Given the description of an element on the screen output the (x, y) to click on. 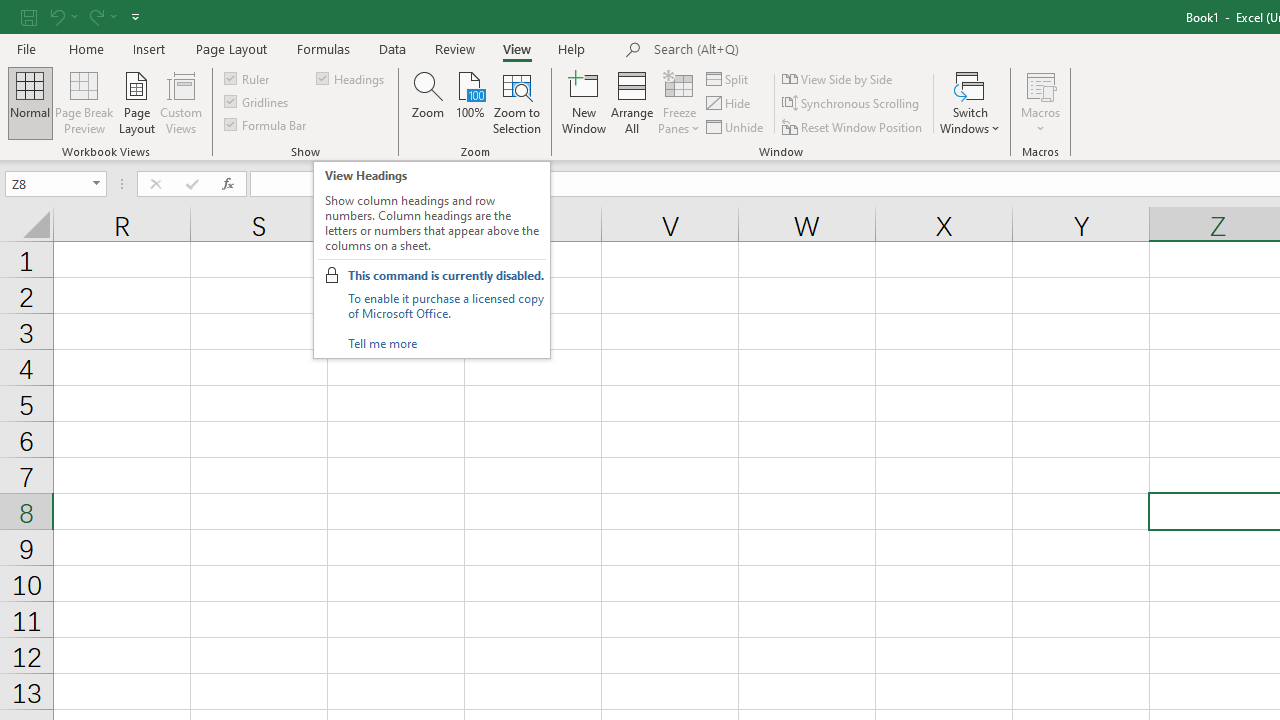
Zoom... (428, 102)
Gridlines (257, 101)
Reset Window Position (854, 126)
Hide (729, 103)
Class: NetUIImage (331, 274)
New Window (584, 102)
100% (470, 102)
Synchronous Scrolling (852, 103)
